Given the description of an element on the screen output the (x, y) to click on. 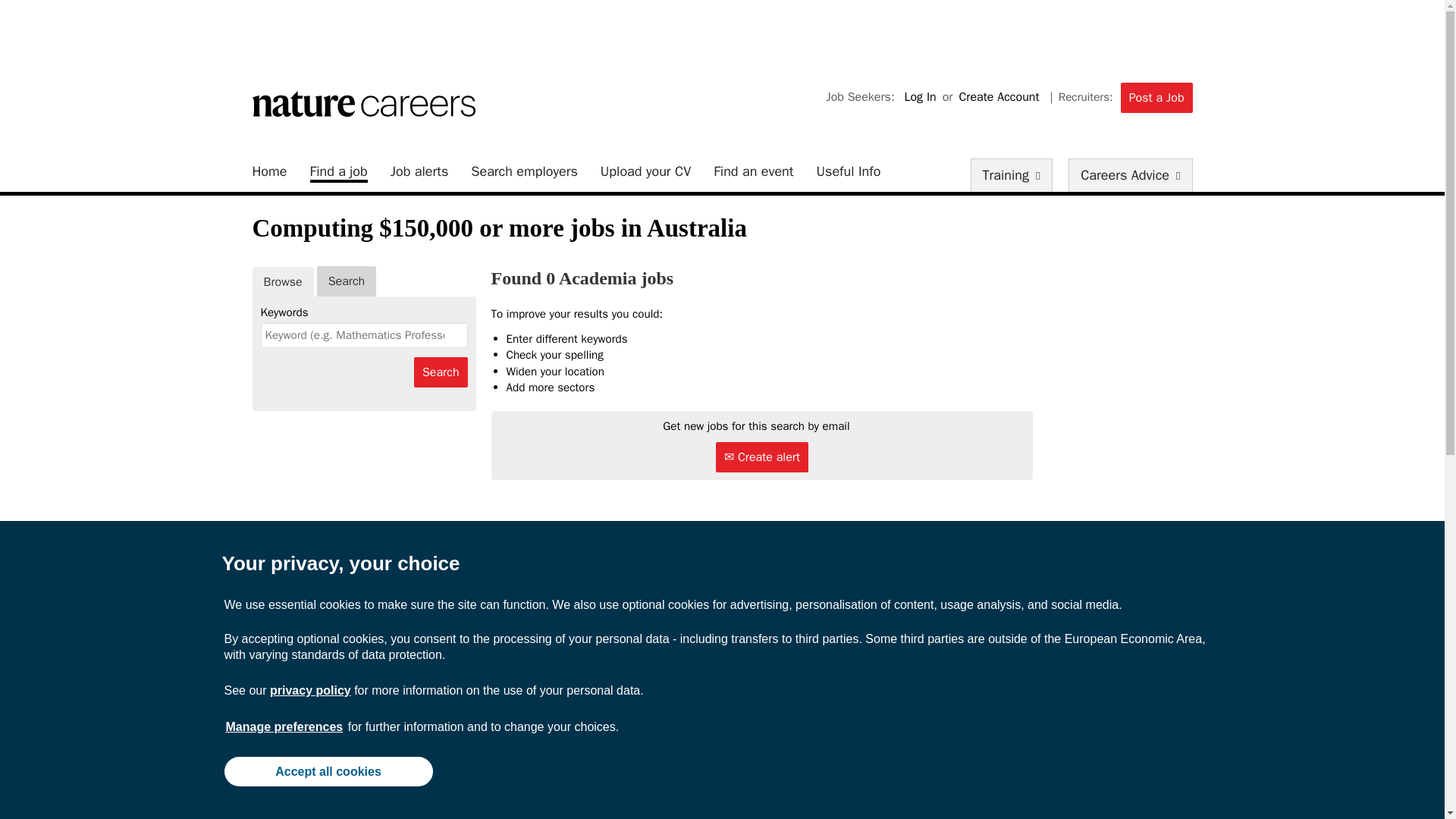
privacy policy (309, 689)
Useful Info (848, 170)
Find an event (753, 170)
3rd party ad content (721, 33)
Home (268, 170)
Careers Advice (1129, 175)
Nature Careers (362, 103)
Log In (919, 96)
Create Account (999, 96)
Search employers (524, 170)
